Given the description of an element on the screen output the (x, y) to click on. 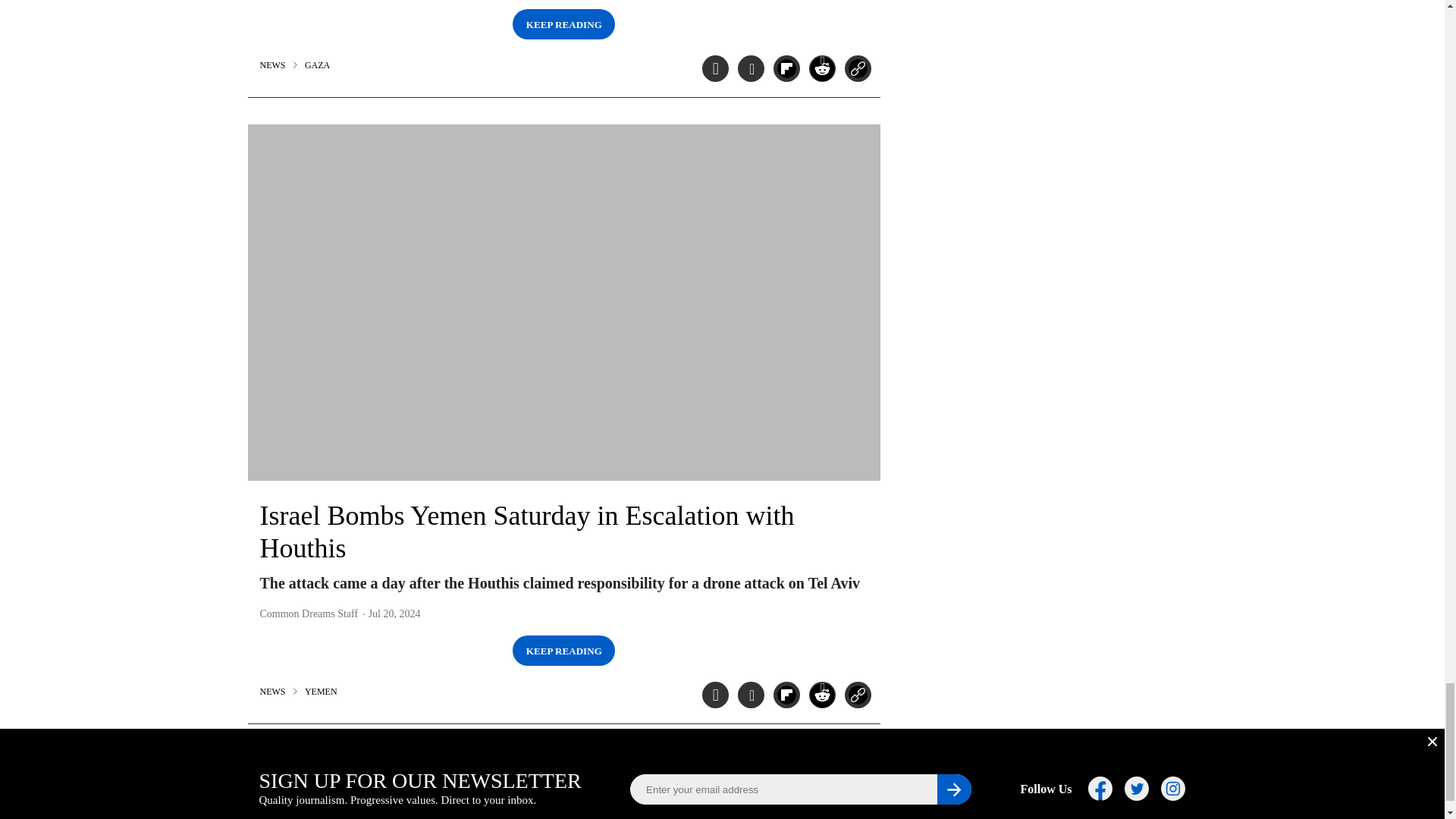
Copy this link to clipboard (857, 694)
Copy this link to clipboard (857, 68)
